Given the description of an element on the screen output the (x, y) to click on. 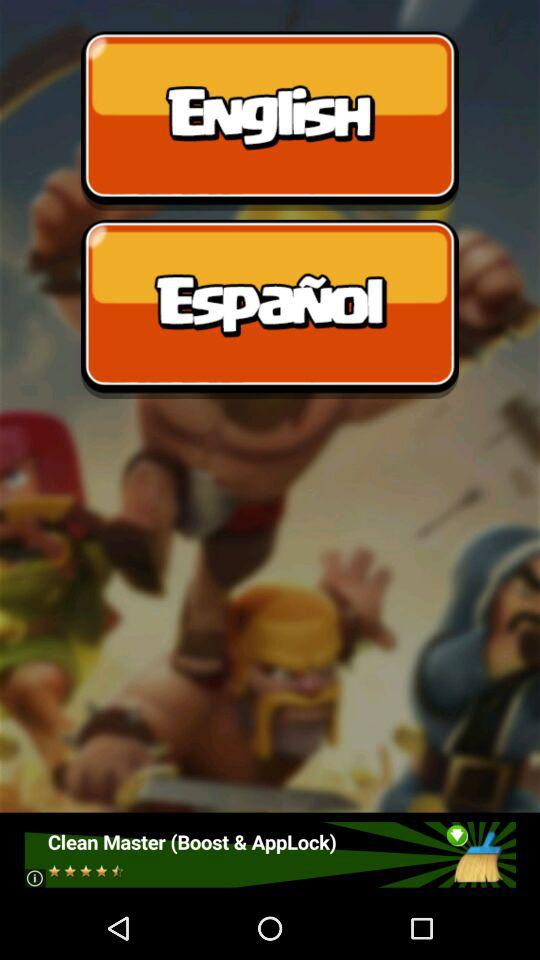
click english (270, 120)
